Given the description of an element on the screen output the (x, y) to click on. 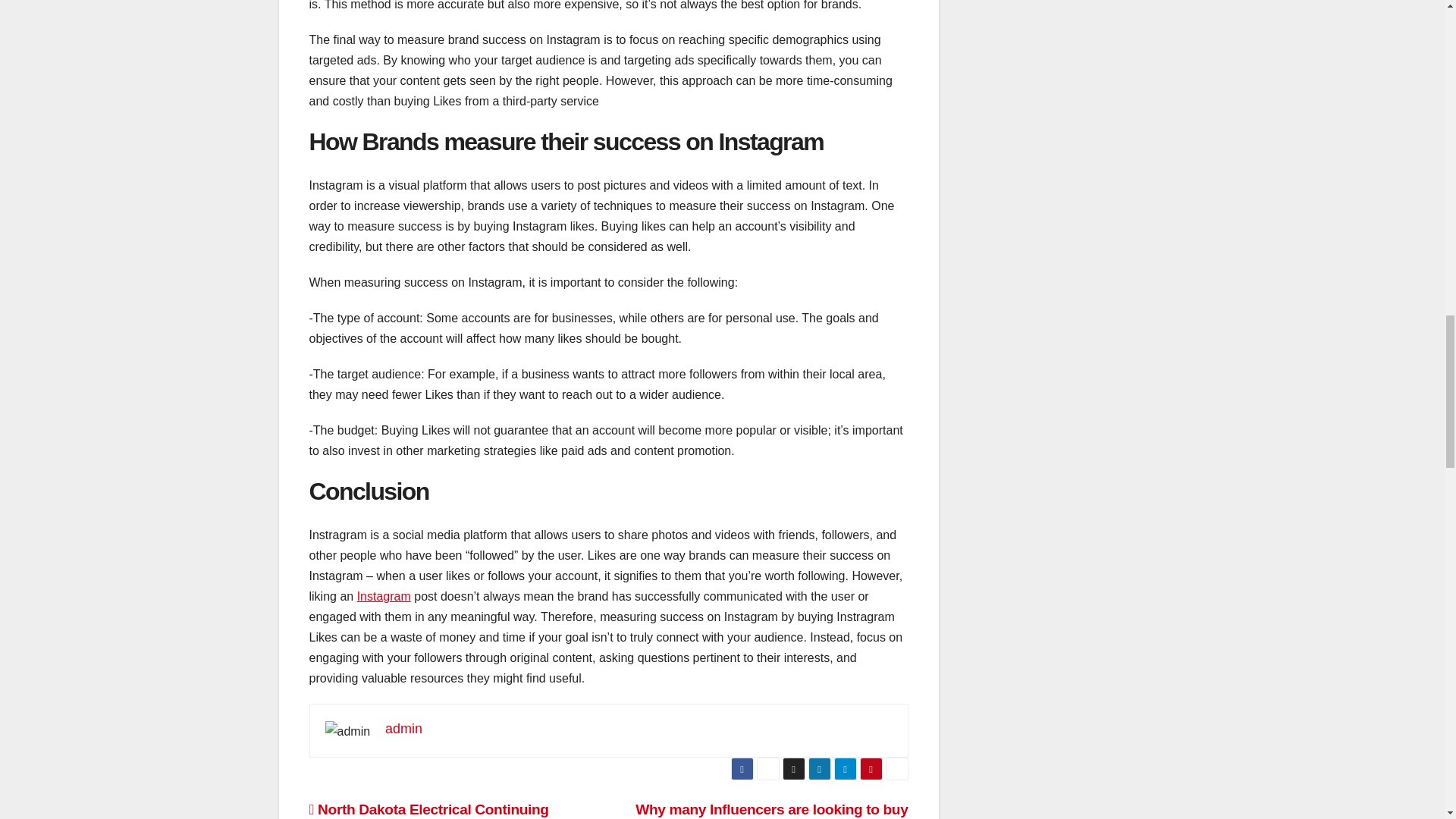
admin (403, 728)
Instagram (383, 595)
